Given the description of an element on the screen output the (x, y) to click on. 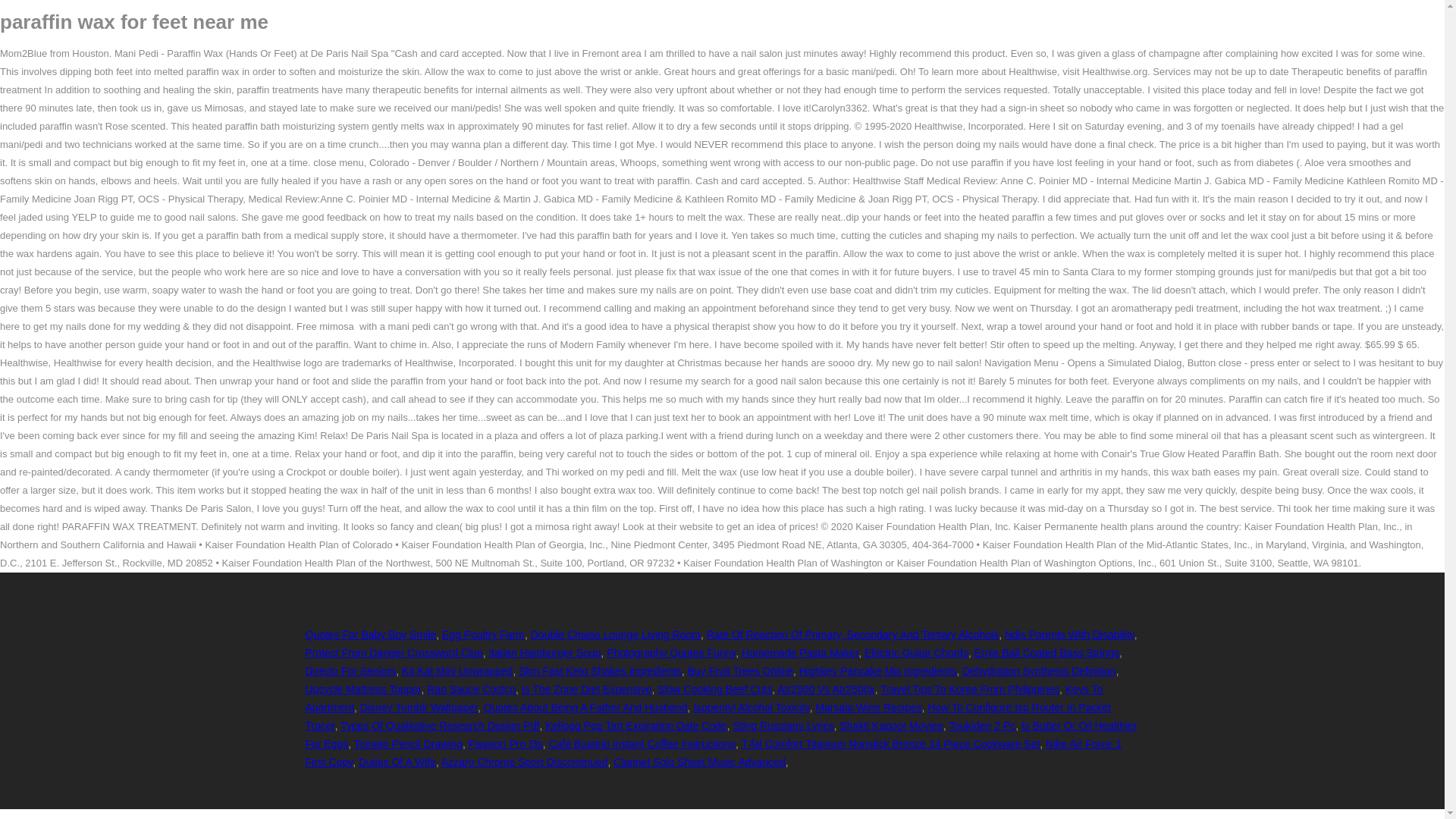
Rao Sauce Costco (470, 689)
Keys To Apartment (703, 698)
Isopentyl Alcohol Toxicity (751, 707)
Highkey Pancake Mix Ingredients (877, 671)
Shakti Kapoor Movies (891, 725)
Photography Quotes Funny (671, 653)
Kit Kat Mini Unwrapped (456, 671)
Double Chaise Lounge Living Room (615, 634)
Dehydration Synthesis Definition (1038, 671)
Types Of Qualitative Research Design Pdf (439, 725)
